Given the description of an element on the screen output the (x, y) to click on. 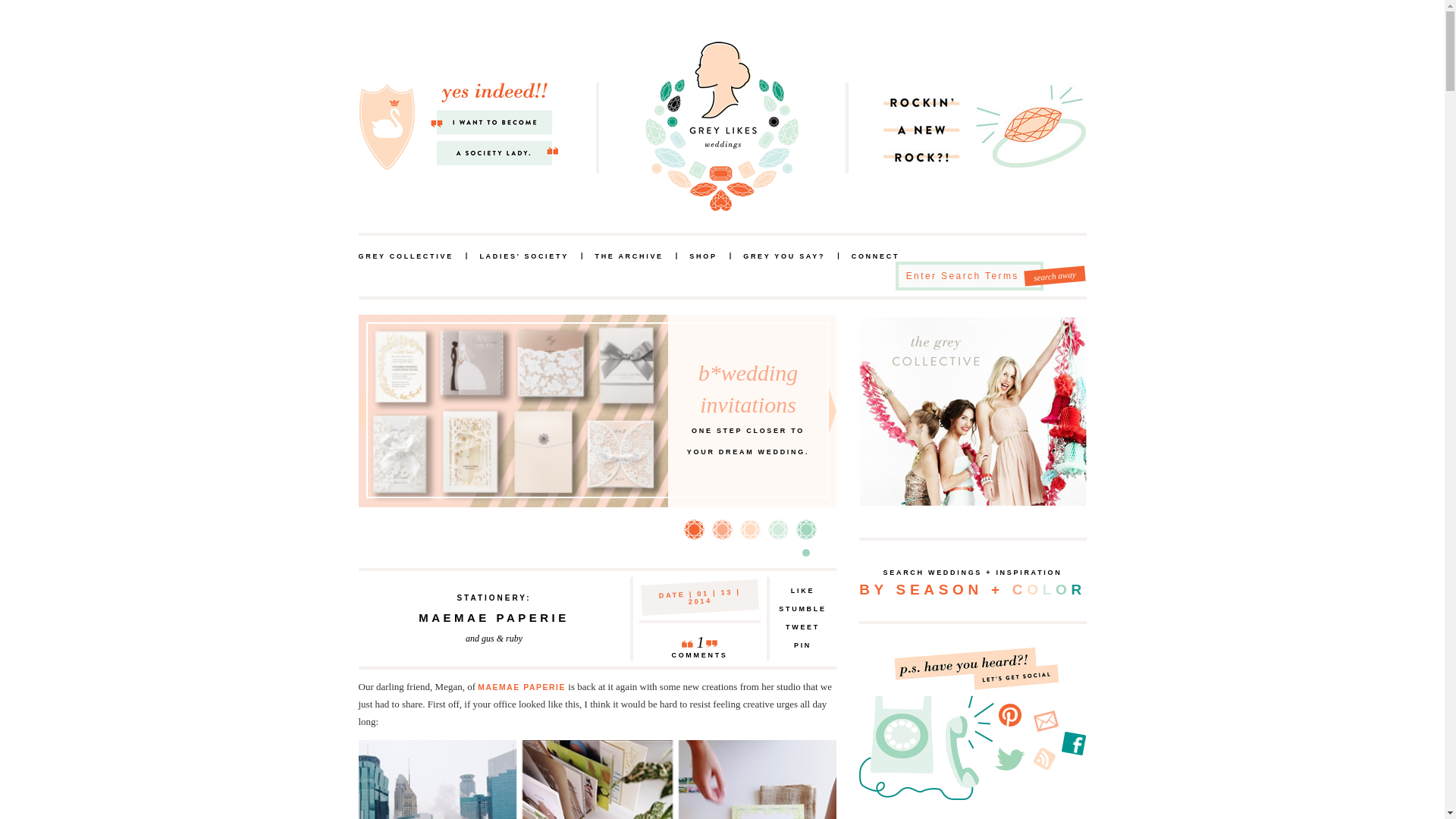
2 (721, 529)
Search Away (699, 639)
GREY YOU SAY? (1053, 273)
THE ARCHIVE (783, 257)
LIKE (628, 257)
STUMBLE (801, 591)
Search Away (801, 609)
1 (1053, 273)
4 (694, 529)
PIN (777, 529)
STATIONERY: (801, 646)
3 (493, 597)
GREY COLLECTIVE (749, 529)
MAEMAE PAPERIE (405, 257)
